Given the description of an element on the screen output the (x, y) to click on. 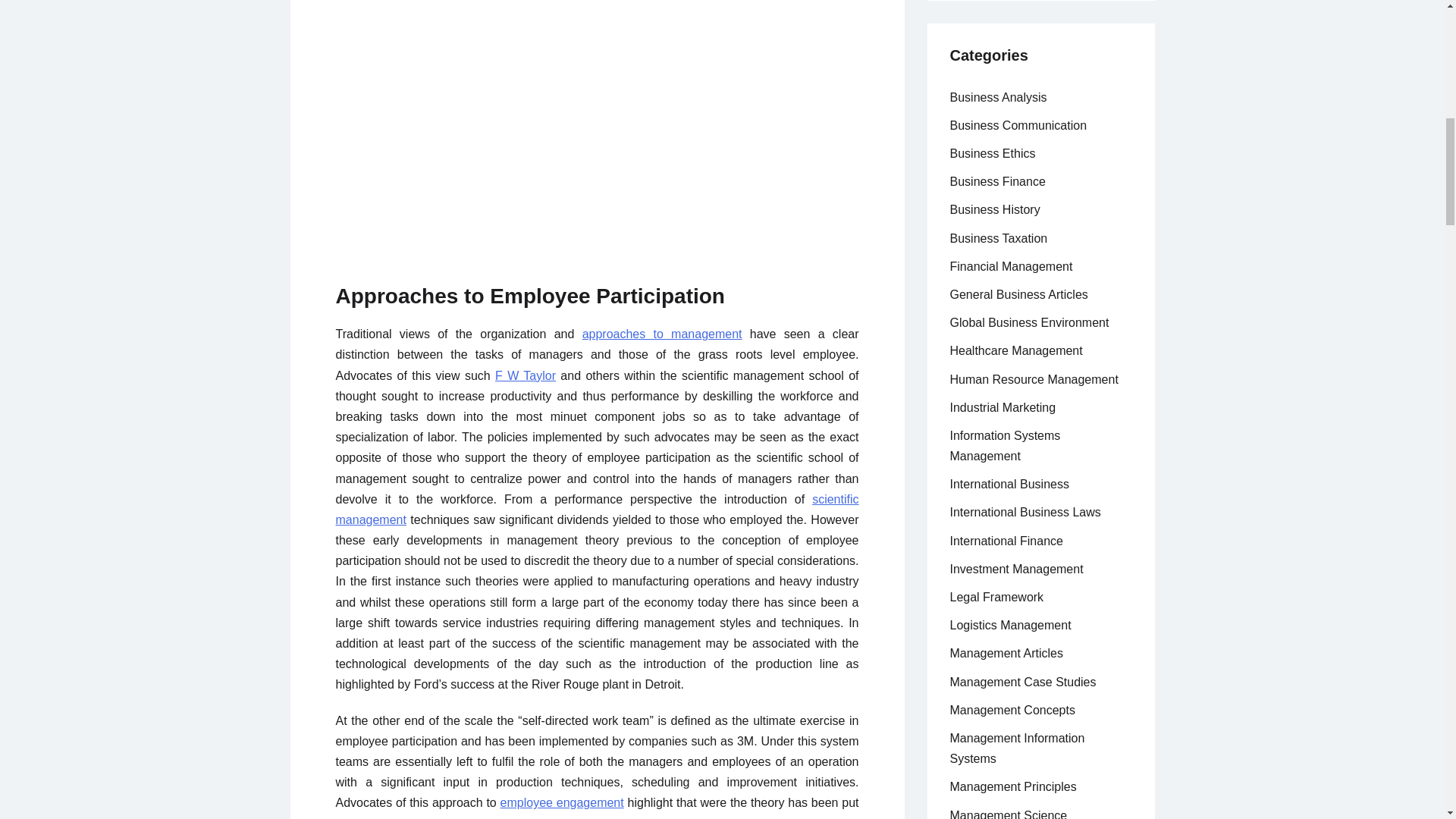
F W Taylor (525, 375)
scientific management (596, 509)
approaches to management (662, 333)
employee engagement (562, 802)
